Given the description of an element on the screen output the (x, y) to click on. 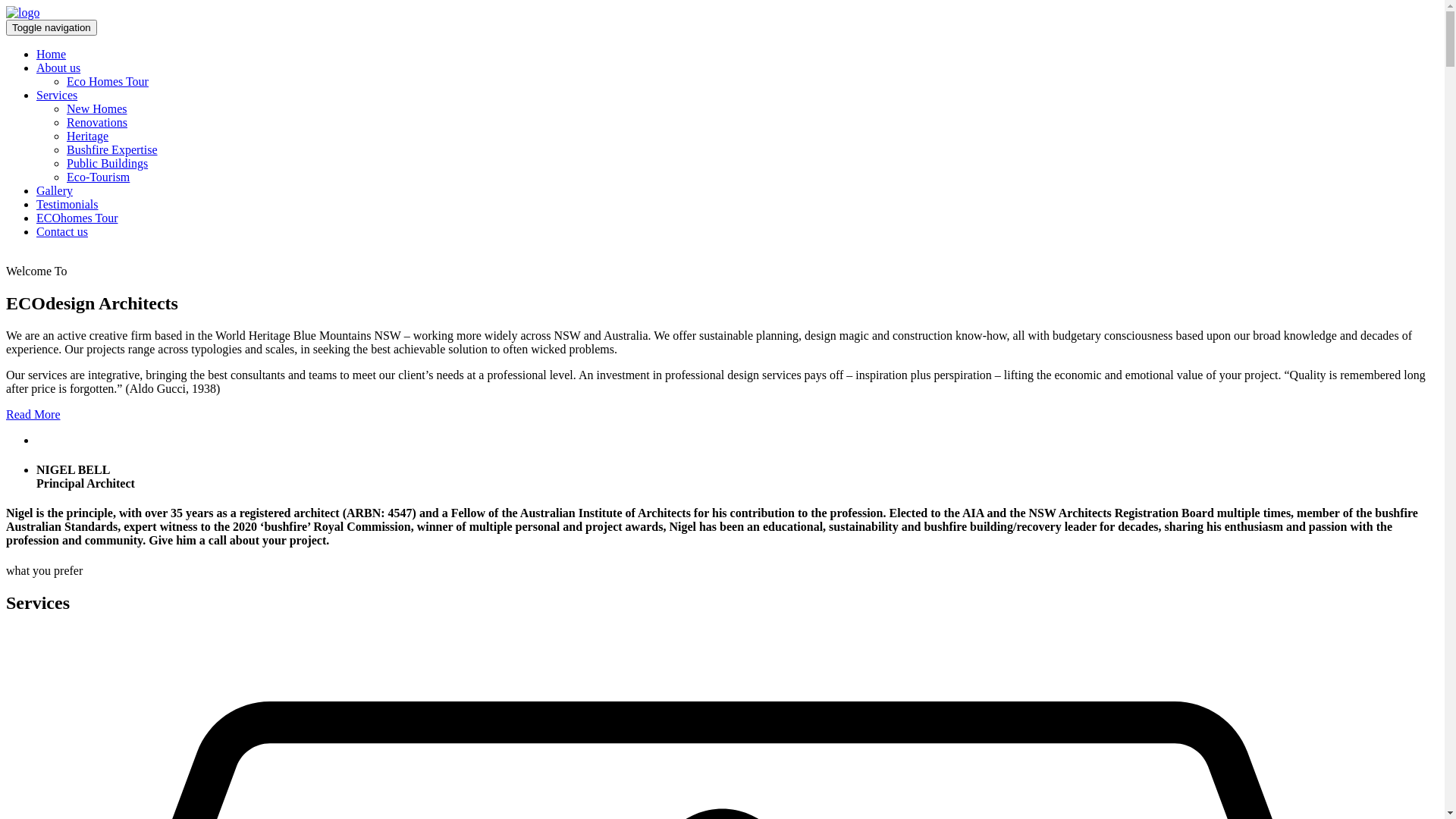
Toggle navigation Element type: text (51, 27)
Eco-Tourism Element type: text (97, 176)
ECOhomes Tour Element type: text (76, 217)
Home Element type: text (50, 53)
Eco Homes Tour Element type: text (107, 81)
Testimonials Element type: text (67, 203)
New Homes Element type: text (96, 108)
Gallery Element type: text (54, 190)
About us Element type: text (58, 67)
Heritage Element type: text (87, 135)
Renovations Element type: text (96, 122)
Services Element type: text (56, 94)
Read More Element type: text (33, 413)
Bushfire Expertise Element type: text (111, 149)
Contact us Element type: text (61, 231)
Public Buildings Element type: text (106, 162)
